Given the description of an element on the screen output the (x, y) to click on. 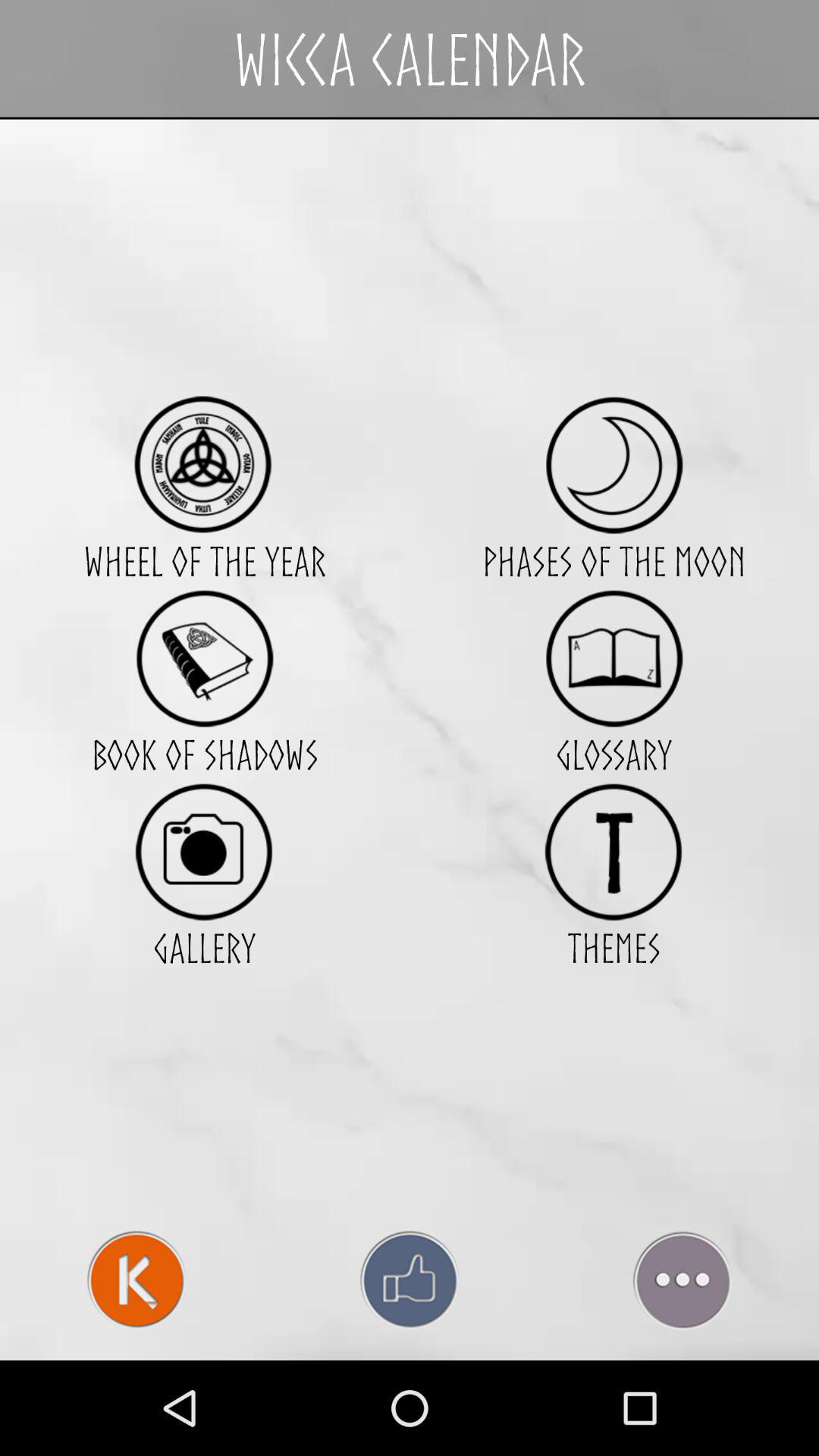
more pages (682, 1280)
